Given the description of an element on the screen output the (x, y) to click on. 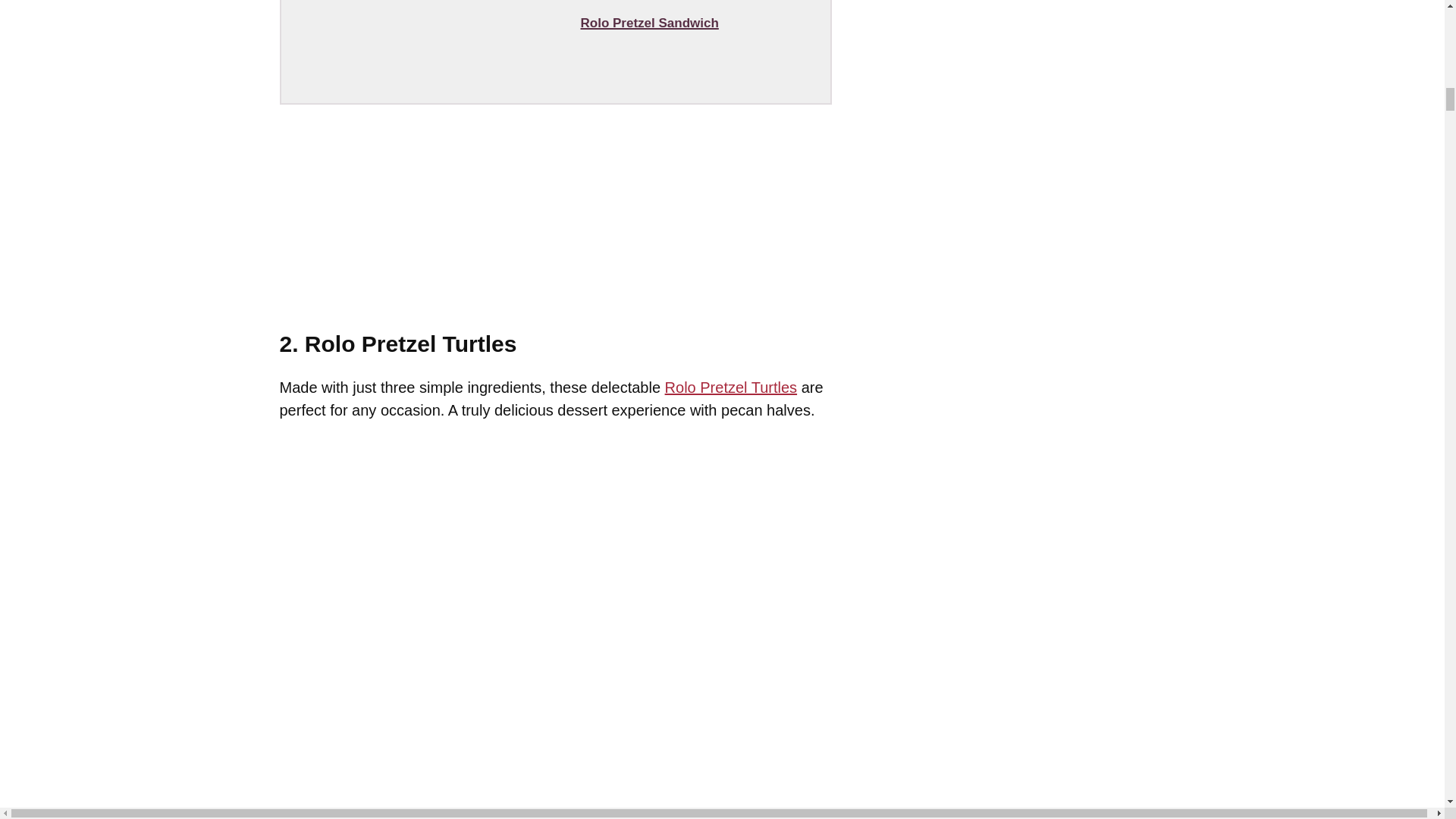
Rolo Pretzel Turtles (731, 387)
Rolo Pretzel Sandwich (649, 23)
